Given the description of an element on the screen output the (x, y) to click on. 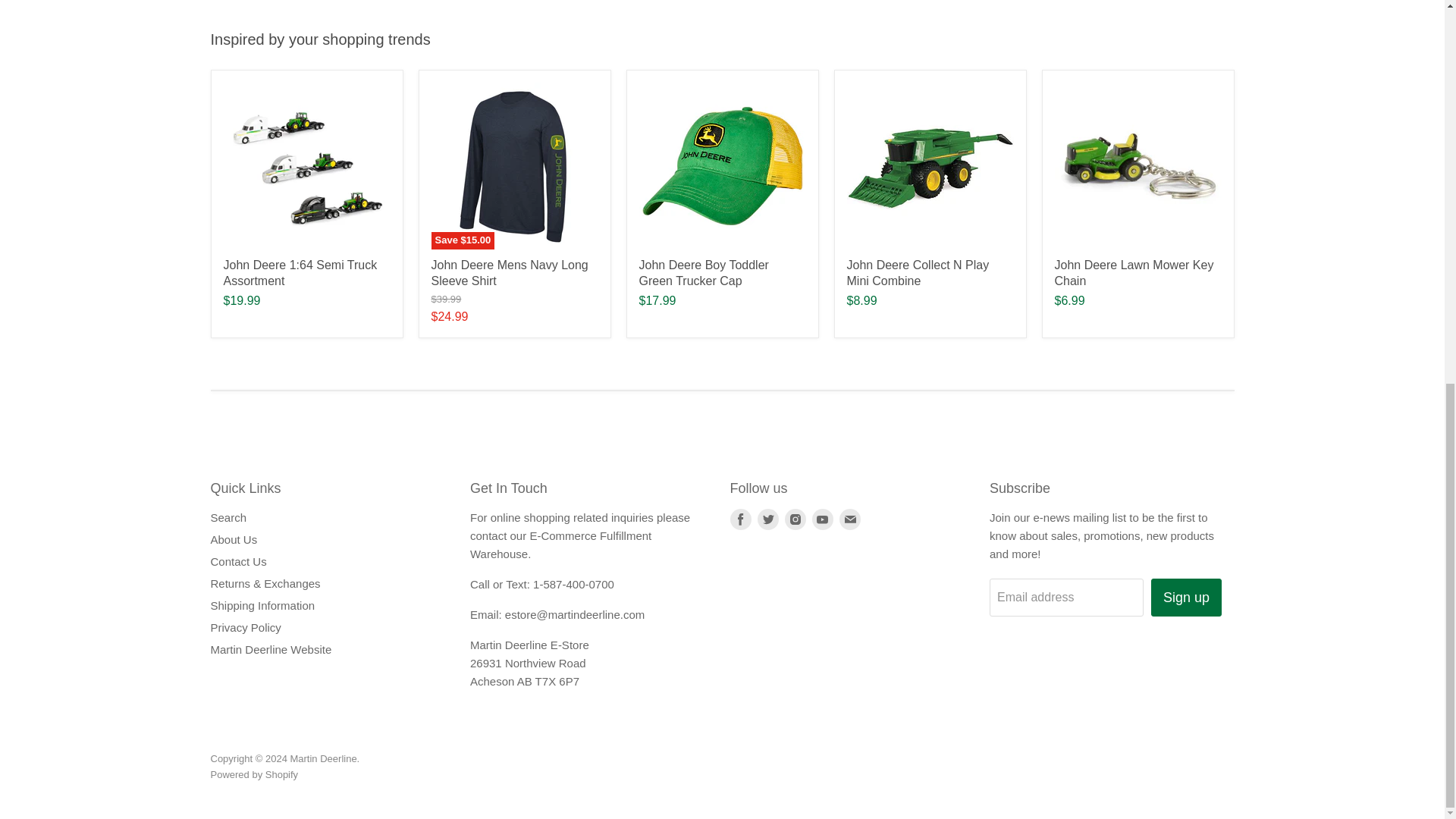
Youtube (821, 518)
Twitter (767, 518)
Instagram (794, 518)
E-mail (849, 518)
Facebook (740, 518)
